Given the description of an element on the screen output the (x, y) to click on. 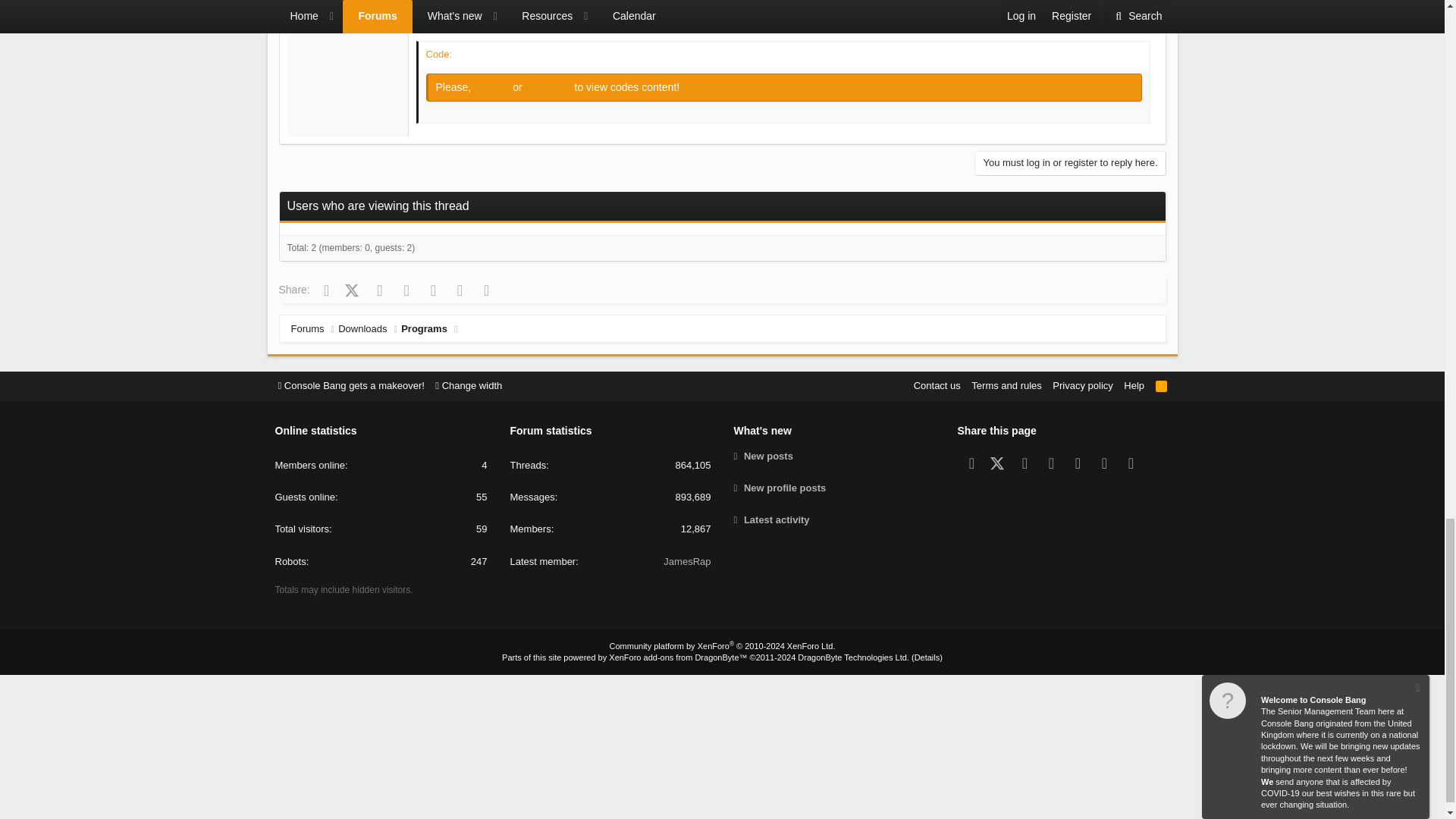
Style chooser (350, 385)
RSS (1161, 385)
